Given the description of an element on the screen output the (x, y) to click on. 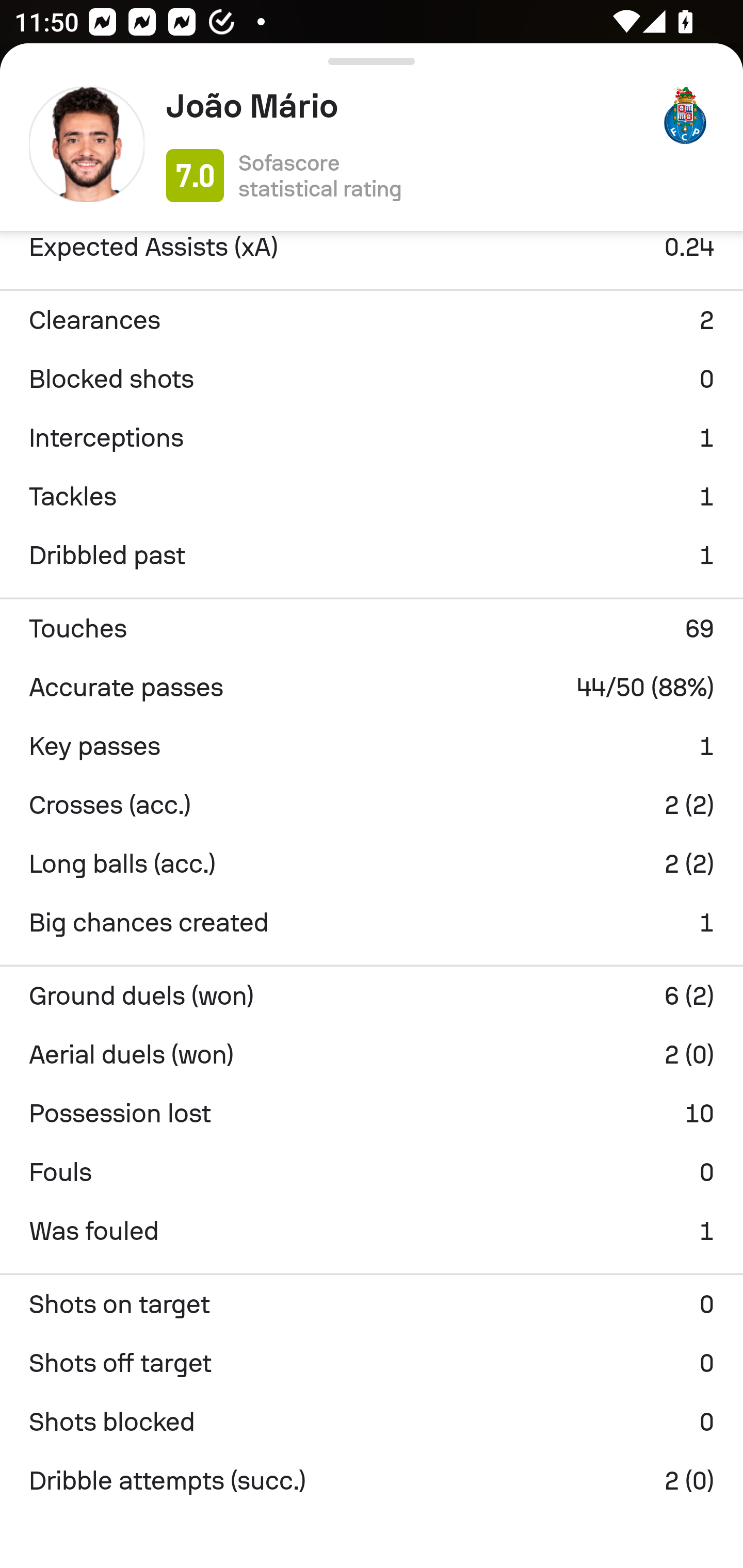
João Mário (403, 105)
Expected Assists (xA) 0.24 (371, 252)
Clearances 2 (371, 320)
Blocked shots 0 (371, 379)
Interceptions 1 (371, 438)
Tackles 1 (371, 496)
Dribbled past 1 (371, 555)
Touches 69 (371, 628)
Accurate passes 44/50 (88%) (371, 687)
Key passes 1 (371, 746)
Crosses (acc.) 2 (2) (371, 805)
Long balls (acc.) 2 (2) (371, 863)
Big chances created 1 (371, 922)
Ground duels (won) 6 (2) (371, 995)
Aerial duels (won) 2 (0) (371, 1054)
Possession lost 10 (371, 1113)
Fouls 0 (371, 1172)
Was fouled 1 (371, 1230)
Shots on target 0 (371, 1304)
Shots off target 0 (371, 1363)
Shots blocked 0 (371, 1421)
Dribble attempts (succ.) 2 (0) (371, 1480)
